Given the description of an element on the screen output the (x, y) to click on. 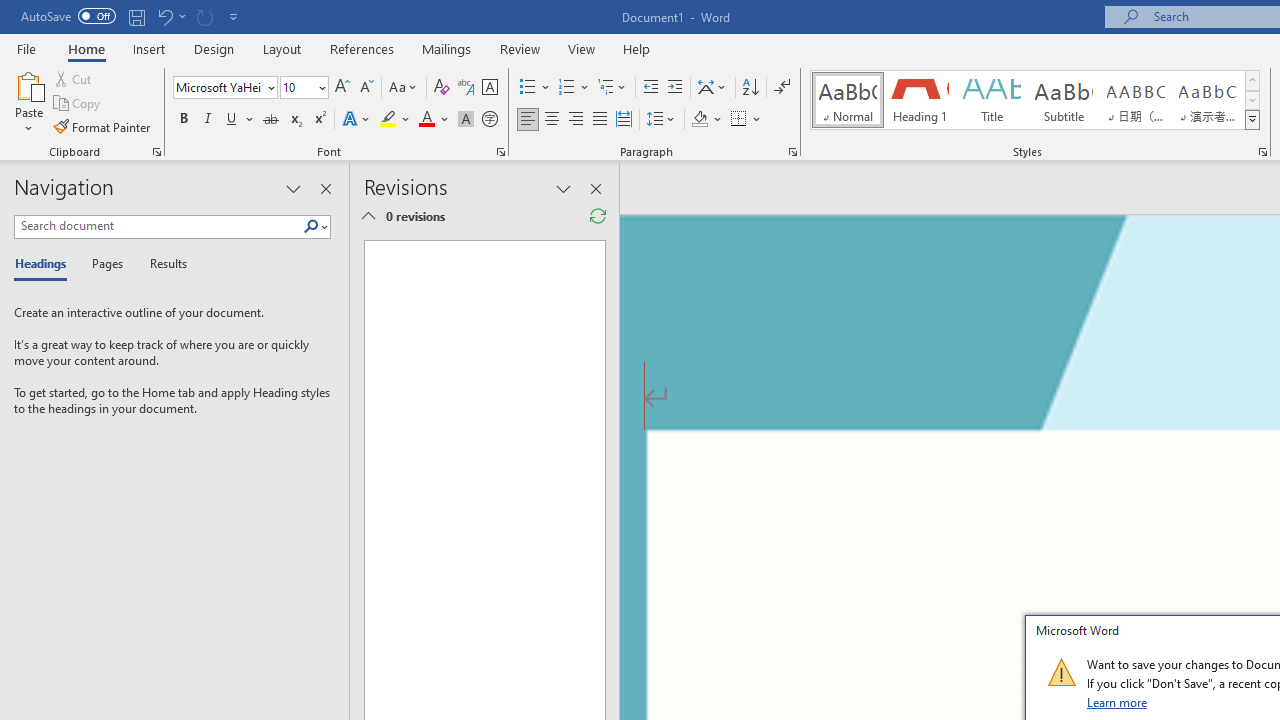
Search (311, 227)
Can't Repeat (204, 15)
Search document (157, 226)
File Tab (26, 48)
Mailings (447, 48)
Row Down (1252, 100)
Undo Paragraph Alignment (170, 15)
Underline (239, 119)
Styles (1252, 120)
Clear Formatting (442, 87)
Asian Layout (712, 87)
Line and Paragraph Spacing (661, 119)
Decrease Indent (650, 87)
Phonetic Guide... (465, 87)
